Given the description of an element on the screen output the (x, y) to click on. 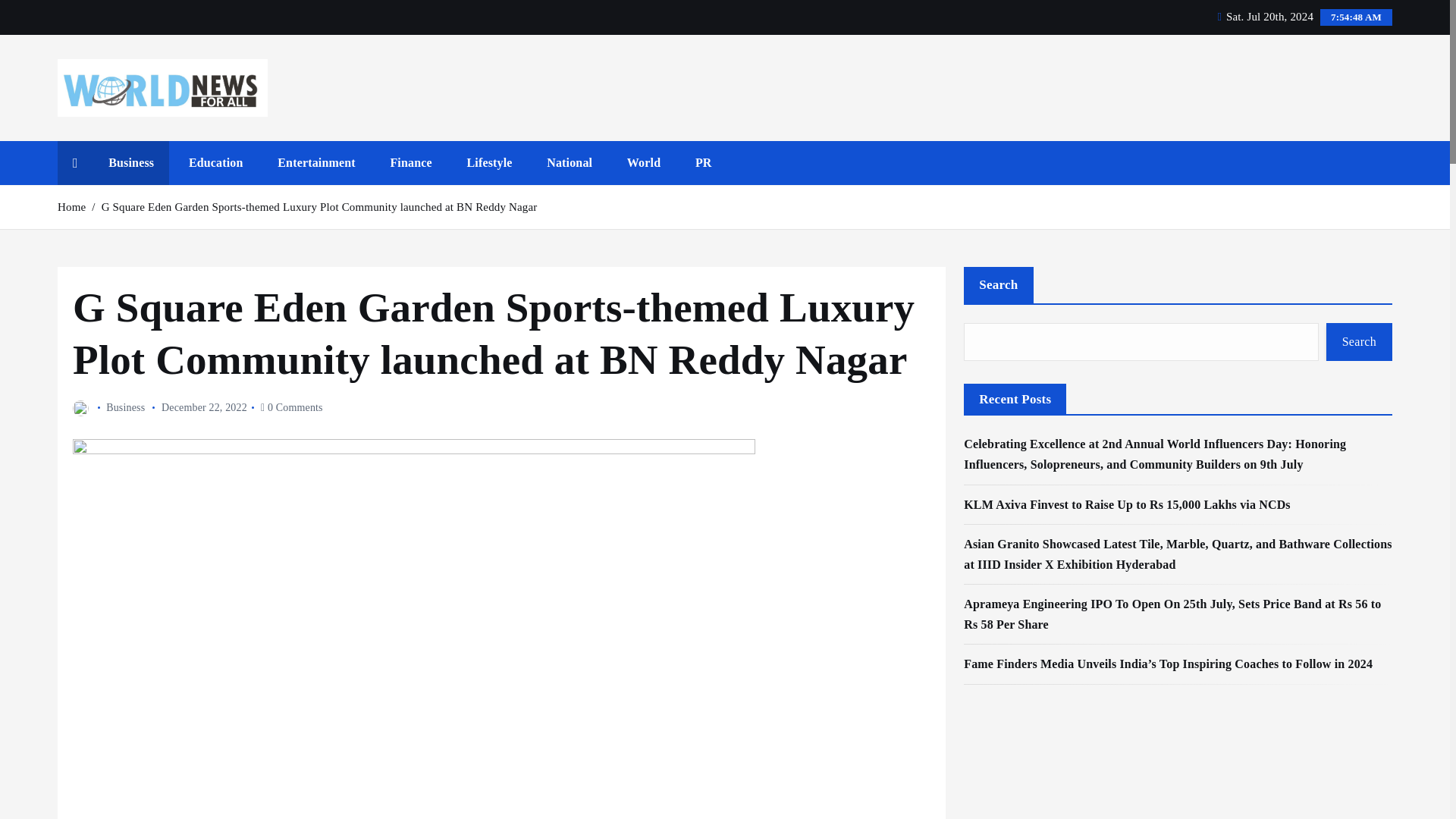
Business (130, 162)
PR (702, 162)
Business (130, 162)
Finance (410, 162)
Education (216, 162)
Education (216, 162)
Entertainment (316, 162)
National (569, 162)
PR (702, 162)
Finance (410, 162)
National (569, 162)
World (643, 162)
World (643, 162)
Lifestyle (489, 162)
Entertainment (316, 162)
